Given the description of an element on the screen output the (x, y) to click on. 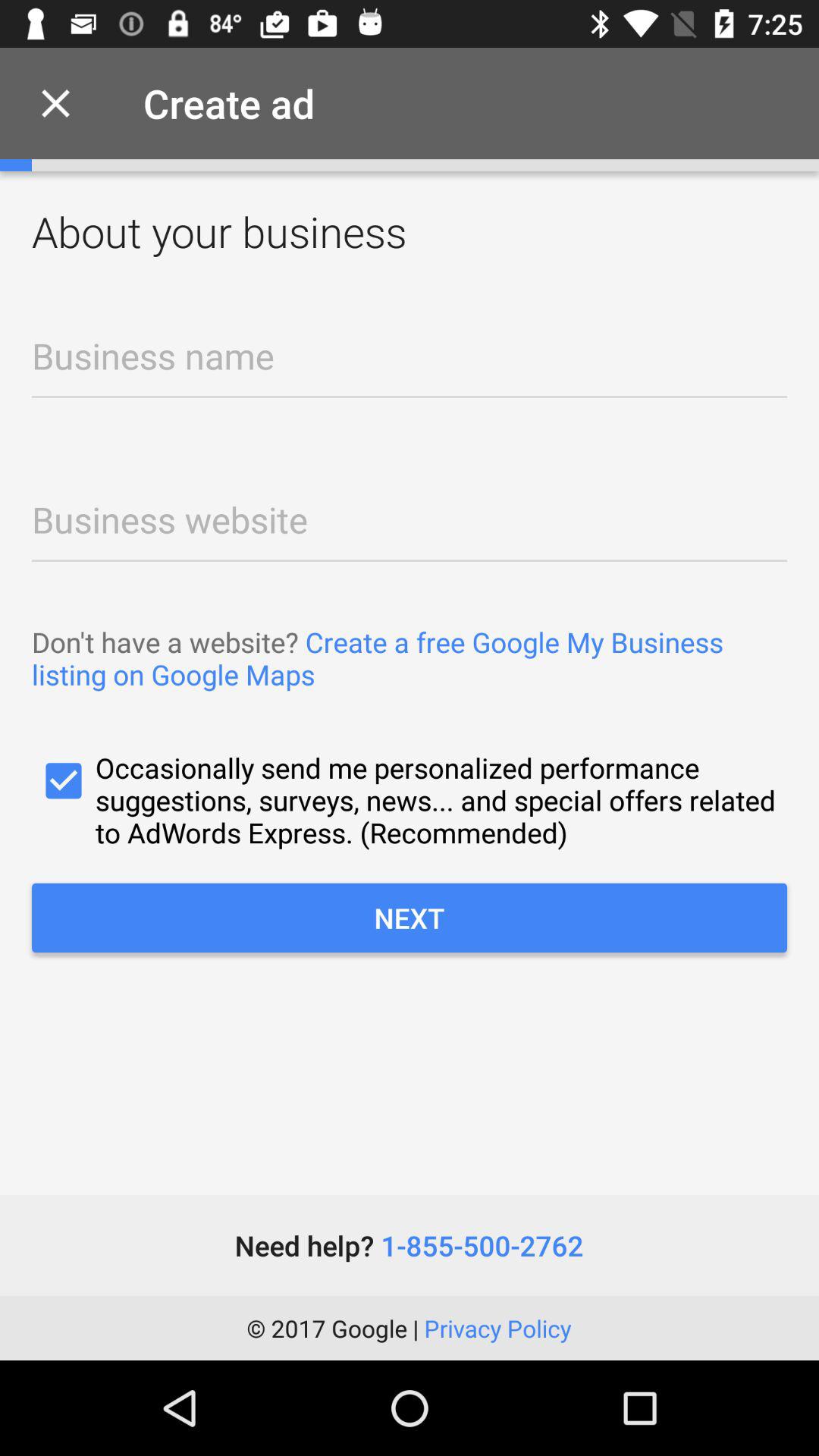
click the item to the left of create ad icon (55, 103)
